Given the description of an element on the screen output the (x, y) to click on. 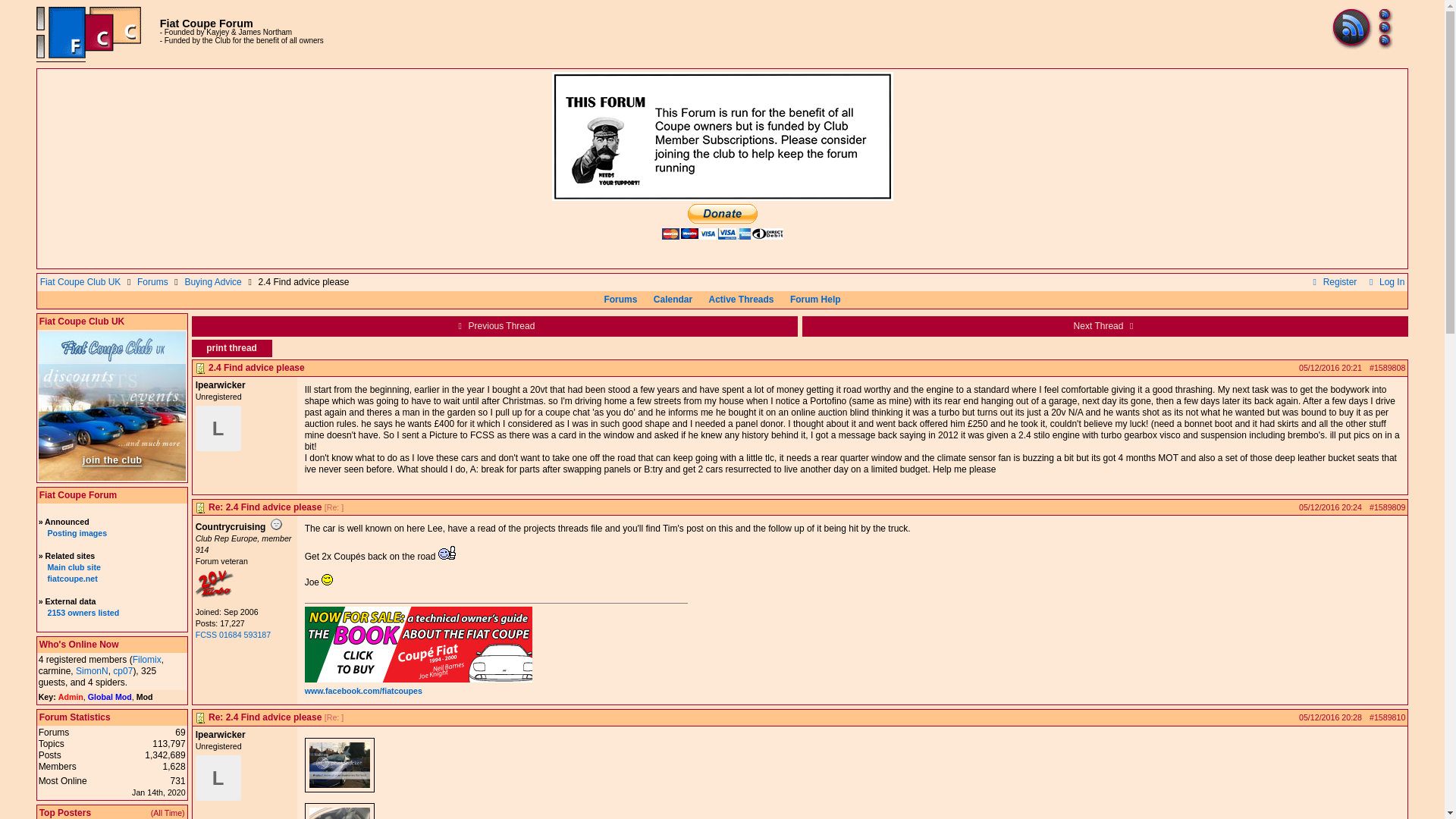
Forum Help (815, 299)
wink (327, 579)
carmine (55, 670)
fiatcoupe.net (71, 578)
lpearwicker (218, 427)
Posting images (76, 532)
Countrycruising (213, 593)
cp07 (122, 670)
Who's Online Now (79, 644)
Log In (1385, 281)
